Given the description of an element on the screen output the (x, y) to click on. 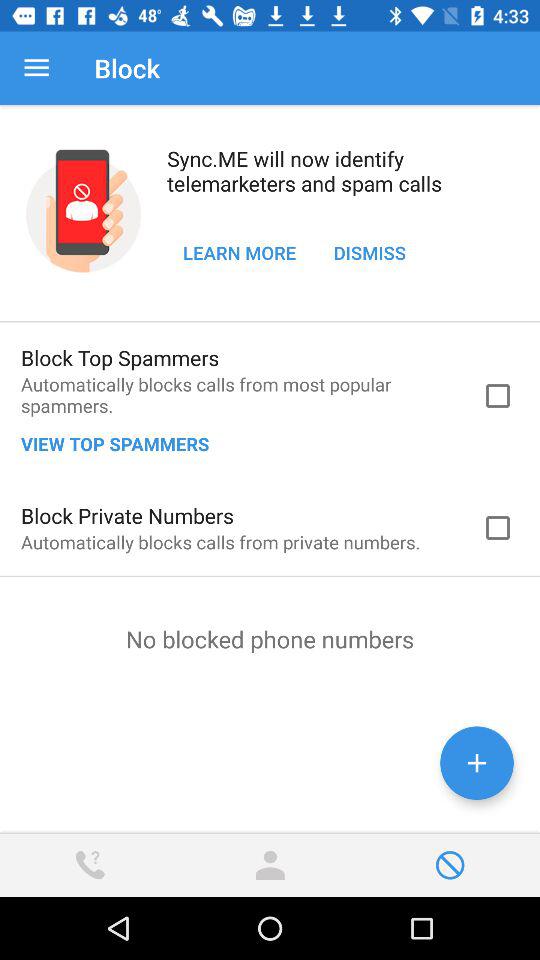
turn off learn more icon (239, 252)
